Given the description of an element on the screen output the (x, y) to click on. 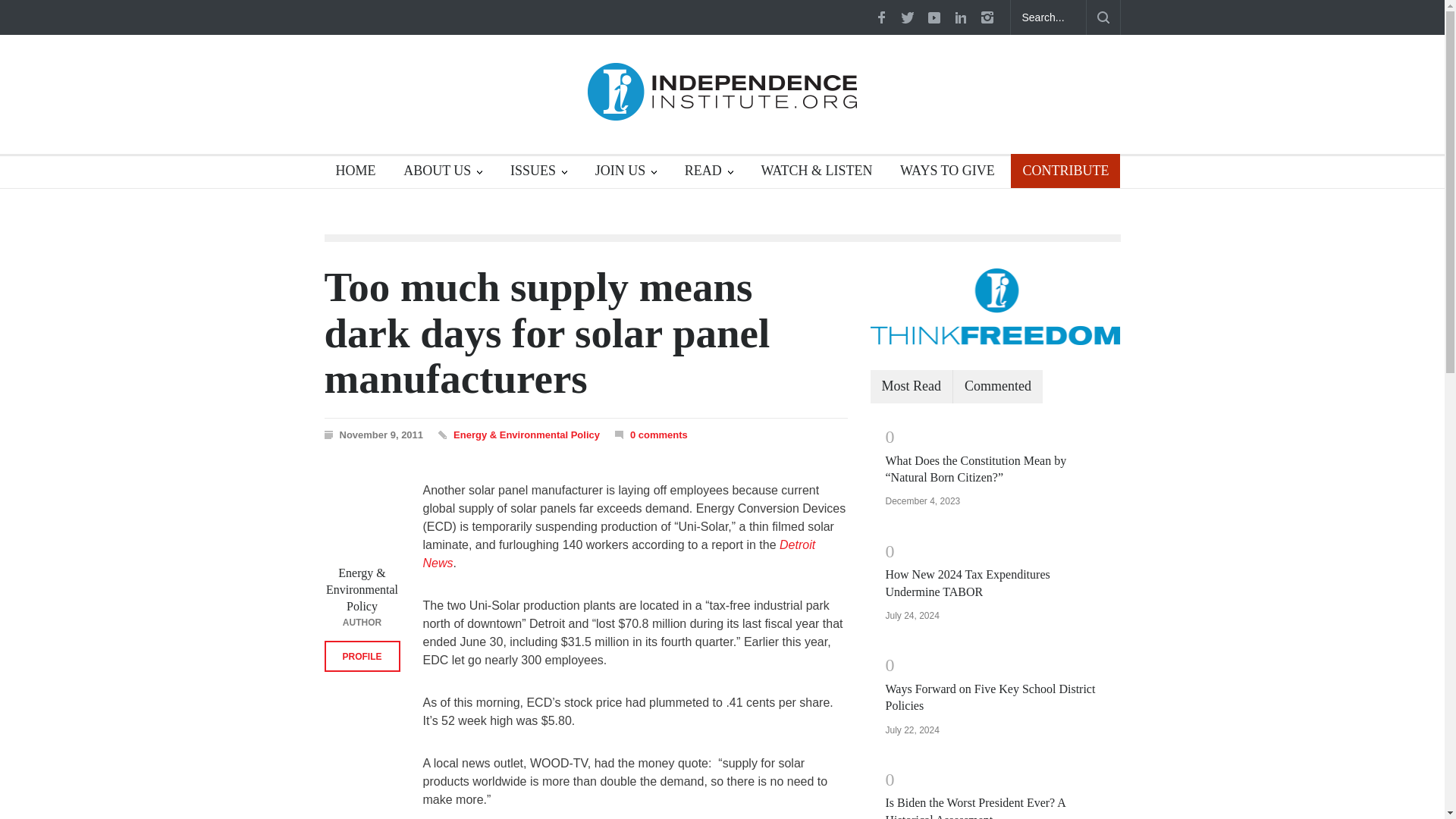
Search... (1048, 17)
READ (708, 172)
ABOUT US (442, 172)
HOME (349, 172)
JOIN US (625, 172)
Independence Institute (721, 97)
ISSUES (538, 172)
0 comments (650, 433)
Search... (1048, 17)
